Given the description of an element on the screen output the (x, y) to click on. 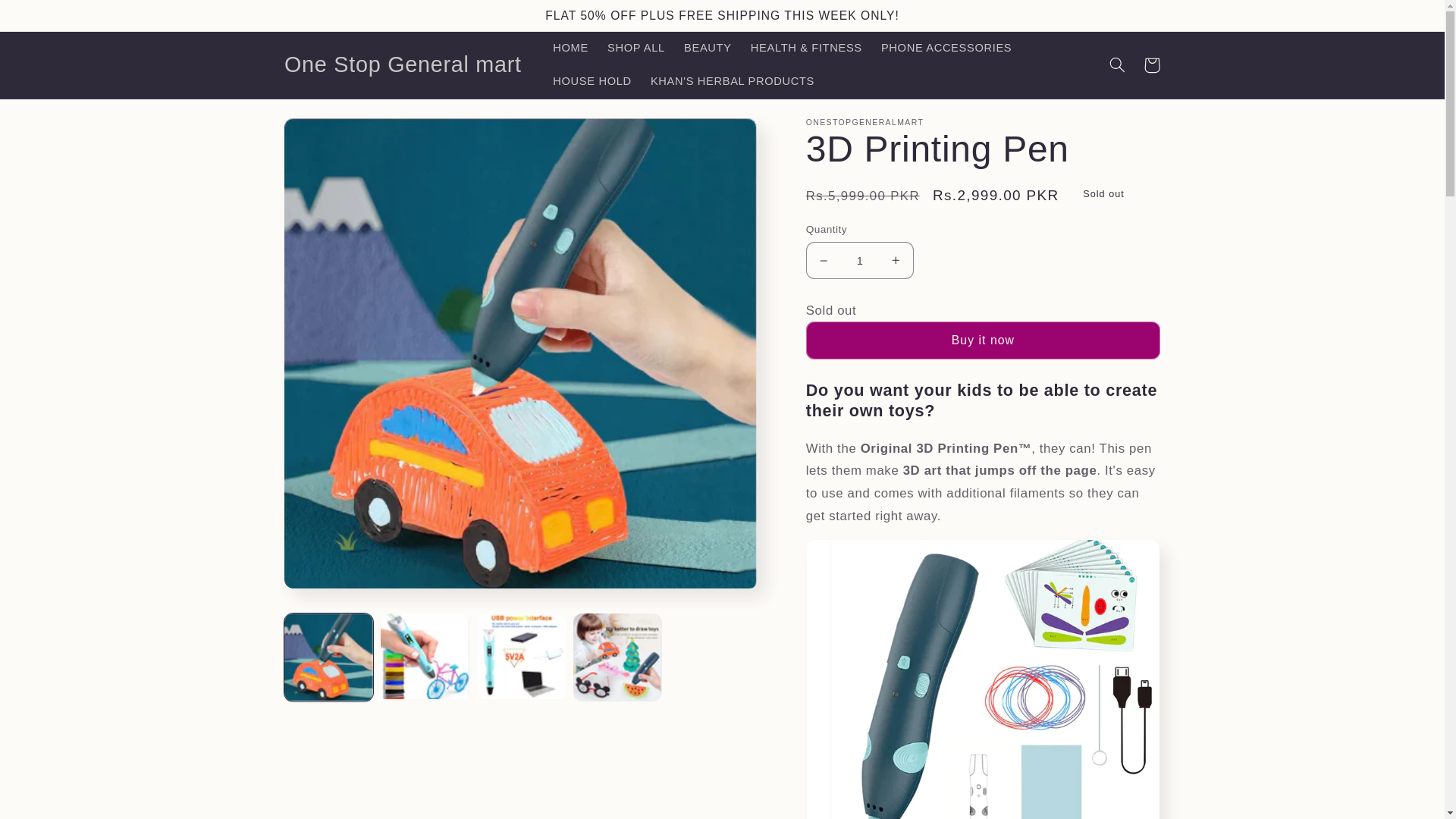
HOME (570, 48)
Skip to product information (331, 135)
Buy it now (983, 340)
Decrease quantity for 3D Printing Pen (823, 260)
Cart (1151, 64)
1 (860, 260)
Increase quantity for 3D Printing Pen (895, 260)
BEAUTY (708, 48)
One Stop General mart (402, 64)
HOUSE HOLD (592, 81)
Skip to content (48, 18)
KHAN'S HERBAL PRODUCTS (732, 81)
PHONE ACCESSORIES (946, 48)
SHOP ALL (635, 48)
